Given the description of an element on the screen output the (x, y) to click on. 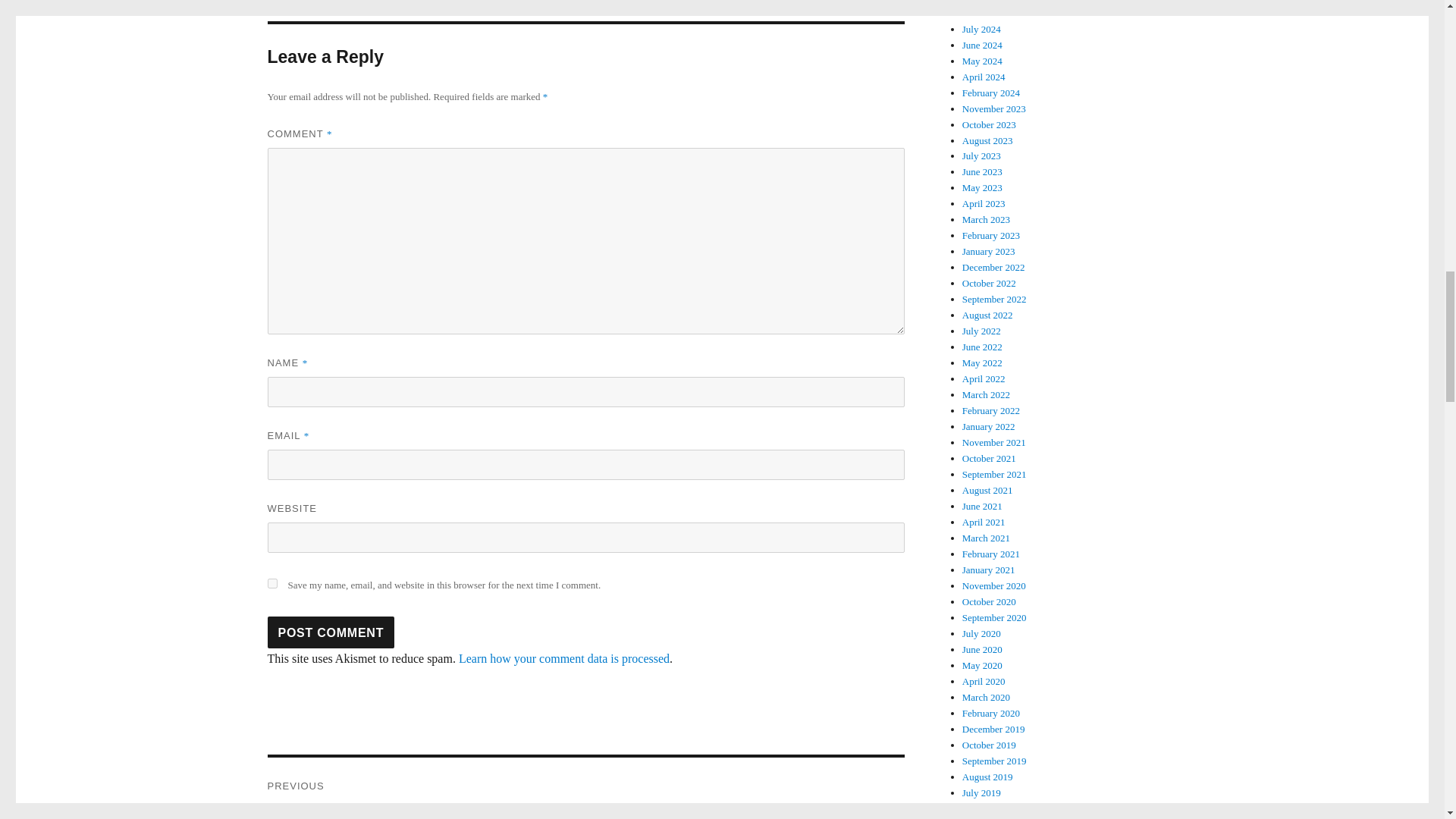
yes (271, 583)
Post Comment (330, 632)
Learn how your comment data is processed (563, 658)
Post Comment (330, 632)
